Given the description of an element on the screen output the (x, y) to click on. 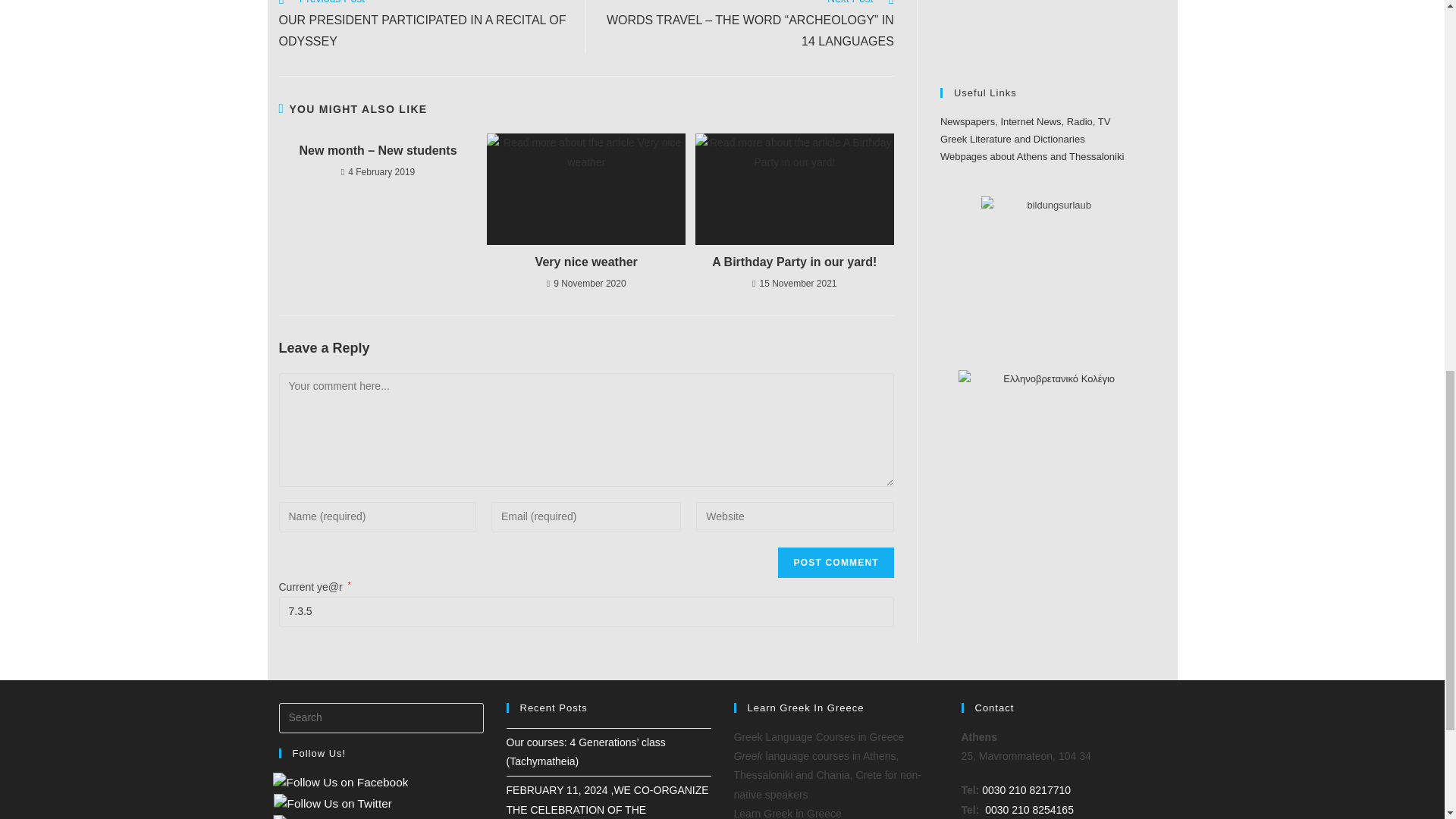
Newspapers, Internet News, Radio, TV (1024, 121)
Webpages about Athens and Thessaloniki (1032, 156)
Follow Us on Twitter (326, 803)
Greek Literature and Dictionaries (1012, 138)
Alexander Brochure - PDF 26 MB (1000, 28)
7.3.5 (586, 612)
Follow Us on Facebook (333, 782)
Post Comment (835, 562)
